Given the description of an element on the screen output the (x, y) to click on. 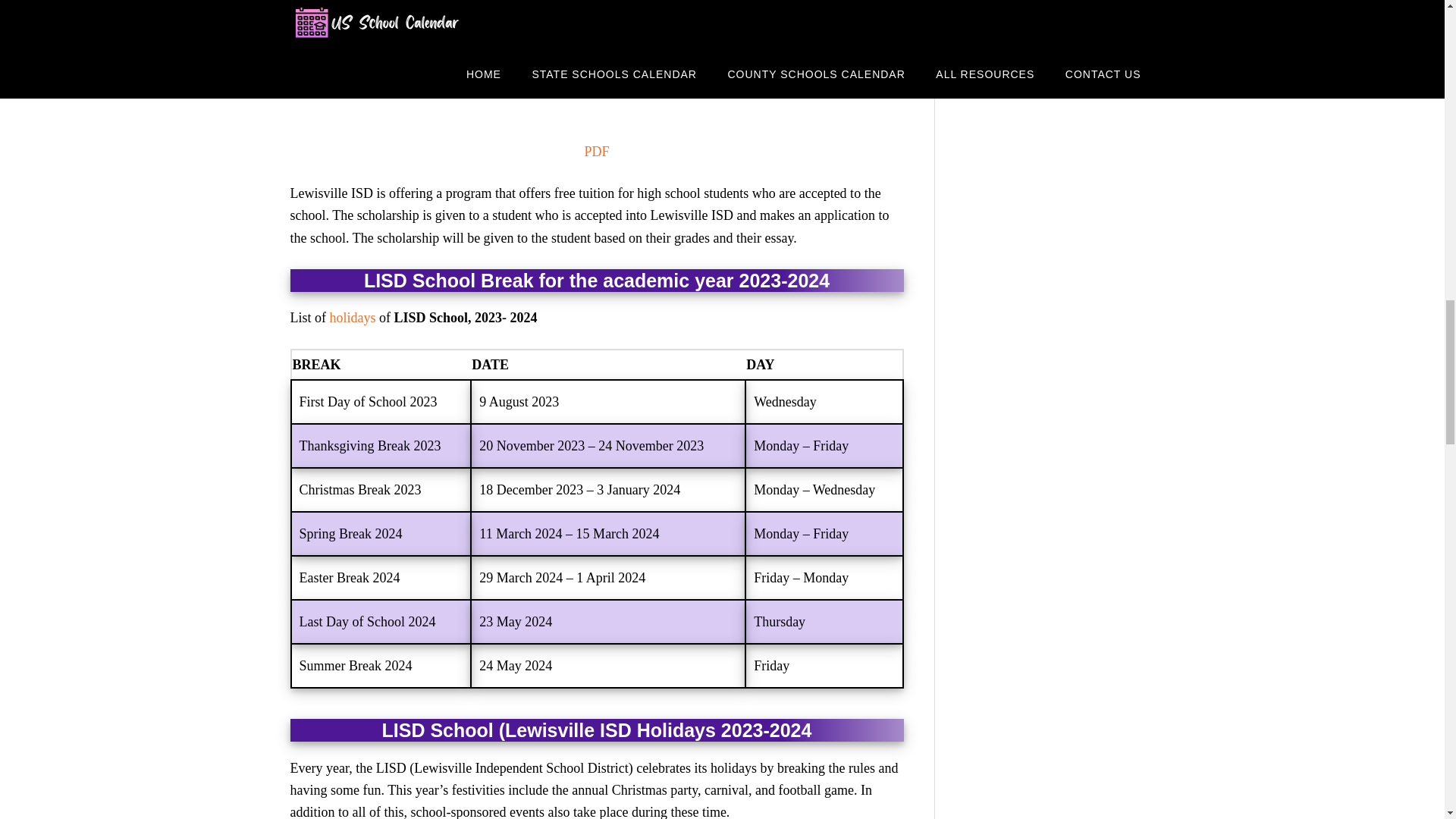
PDF (595, 151)
holidays (352, 317)
